Given the description of an element on the screen output the (x, y) to click on. 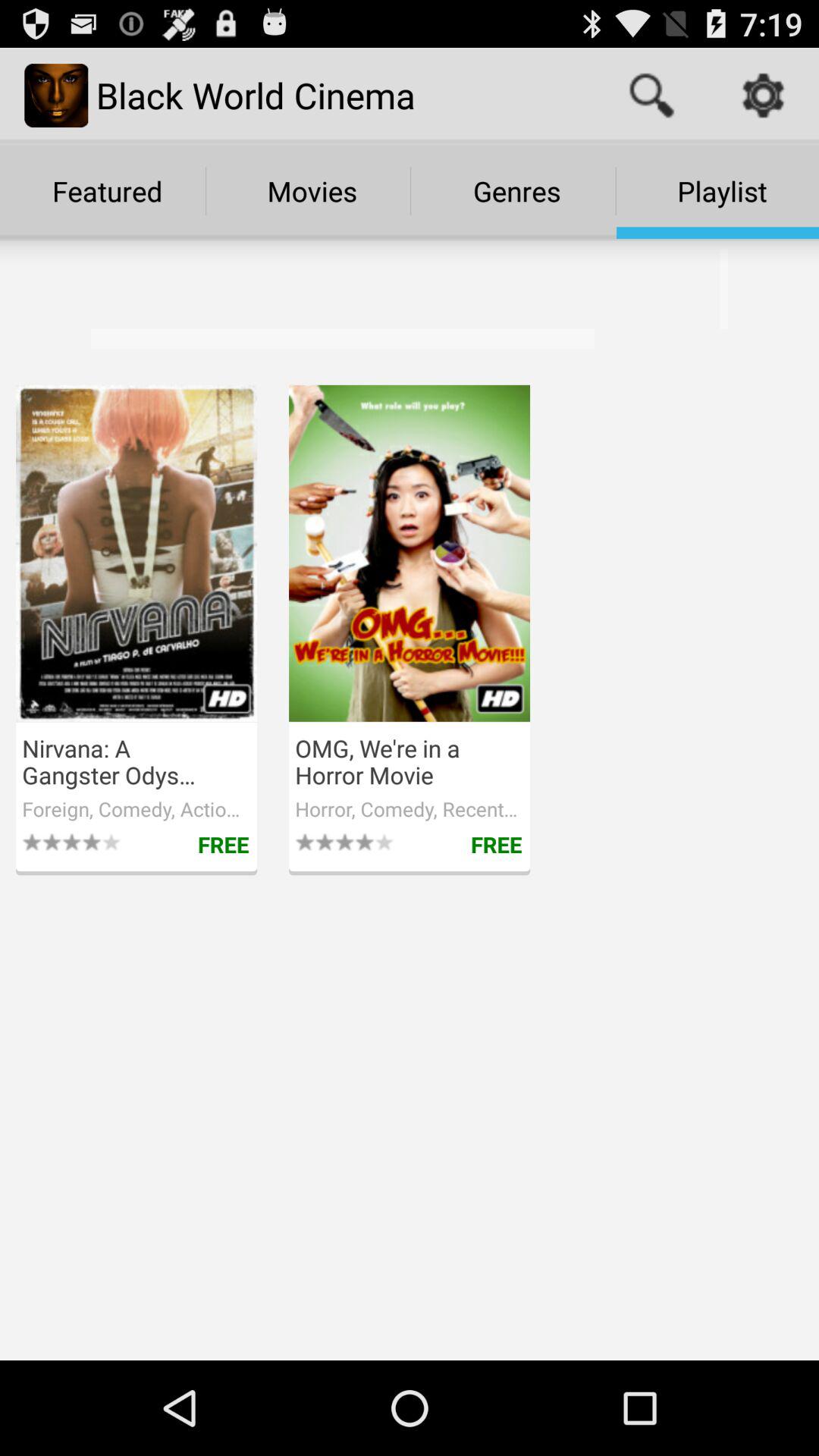
click the item to the right of black world cinema item (651, 95)
